Given the description of an element on the screen output the (x, y) to click on. 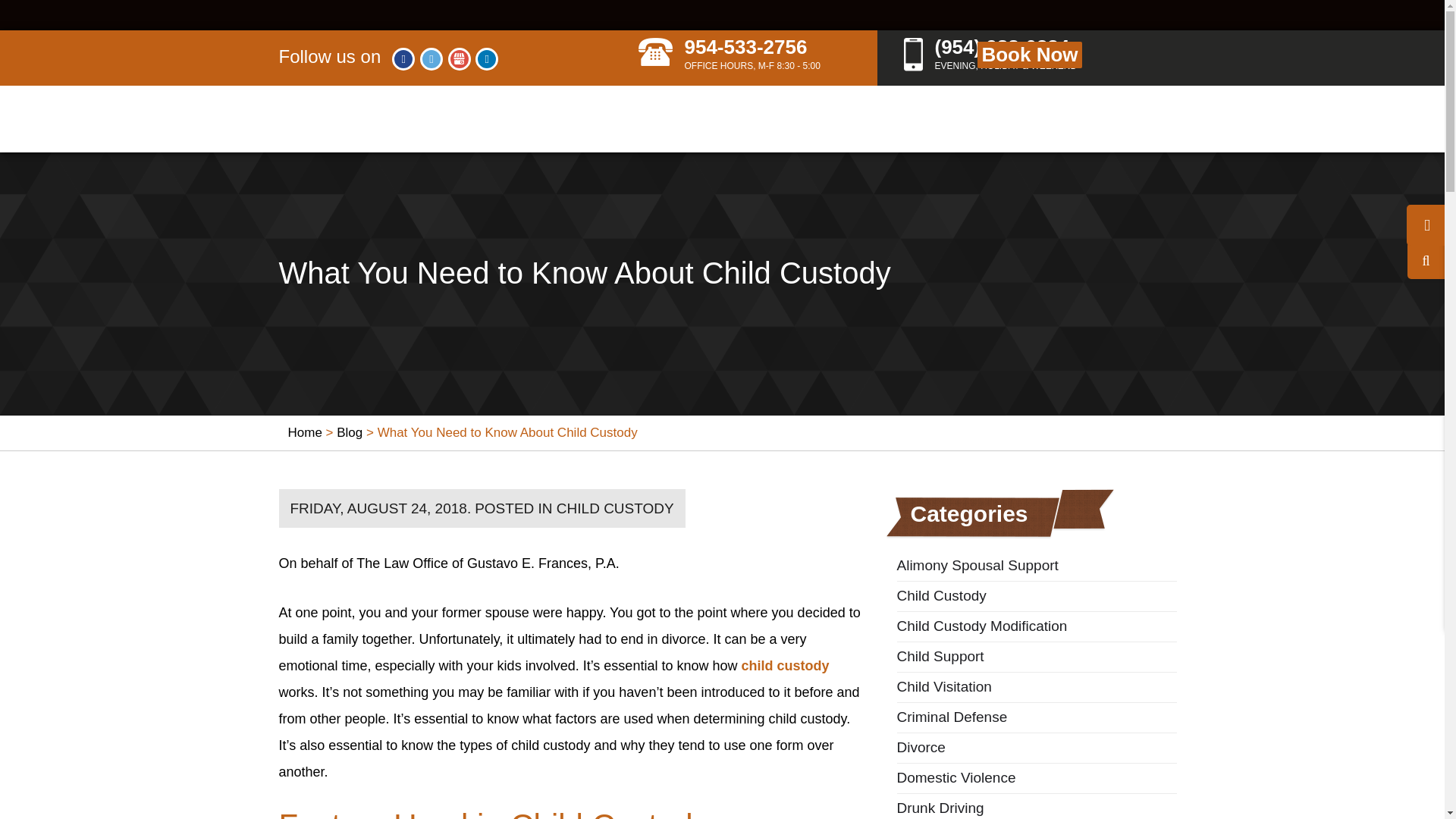
954-297-6546 (1000, 56)
Book Now (1072, 54)
phone (655, 51)
twitter (431, 58)
linkedin (486, 58)
facebook (734, 56)
954-533-2756 (402, 58)
Book Now (734, 56)
Book an Appointment (1028, 54)
